Given the description of an element on the screen output the (x, y) to click on. 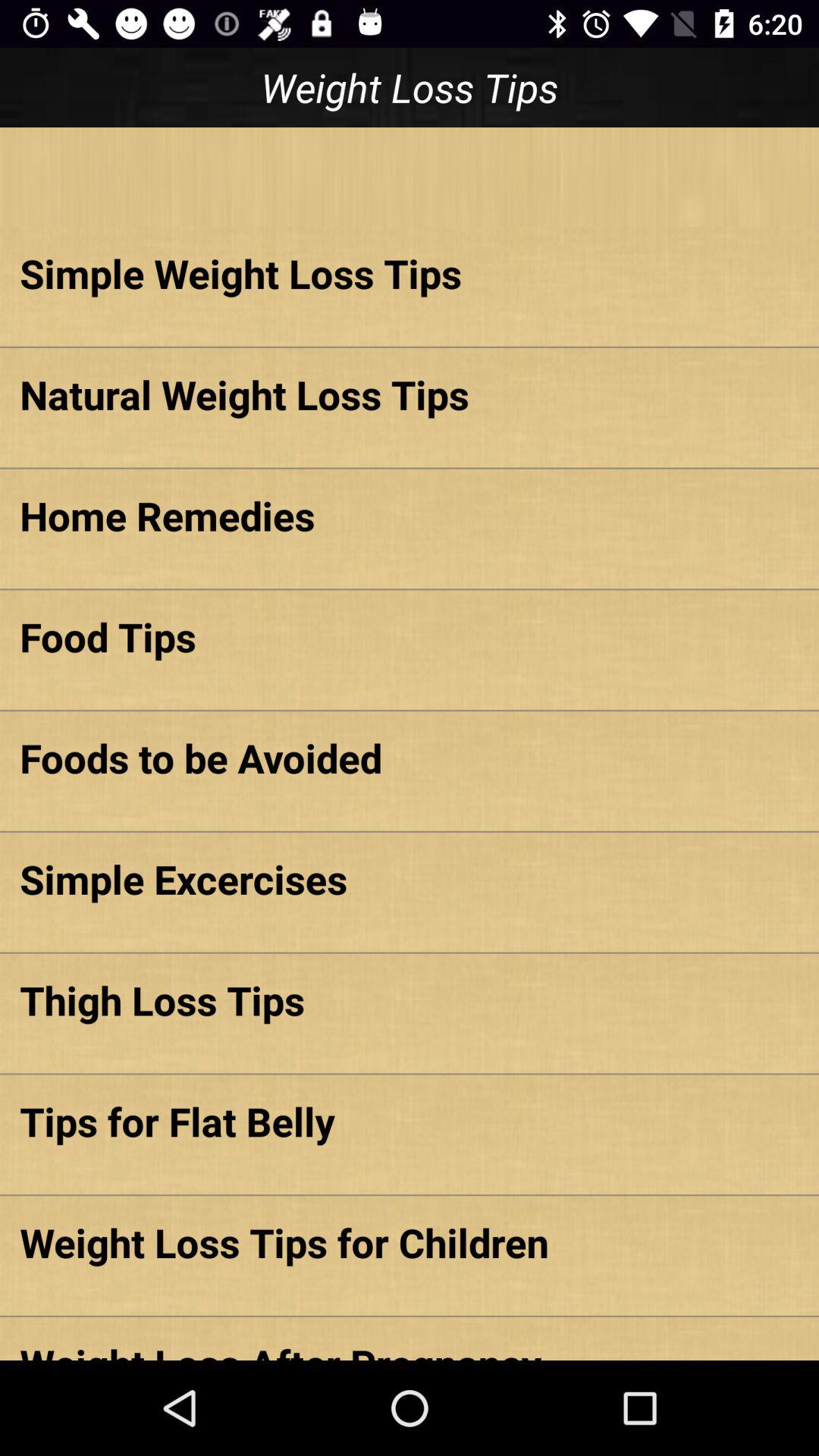
jump to foods to be item (409, 757)
